Given the description of an element on the screen output the (x, y) to click on. 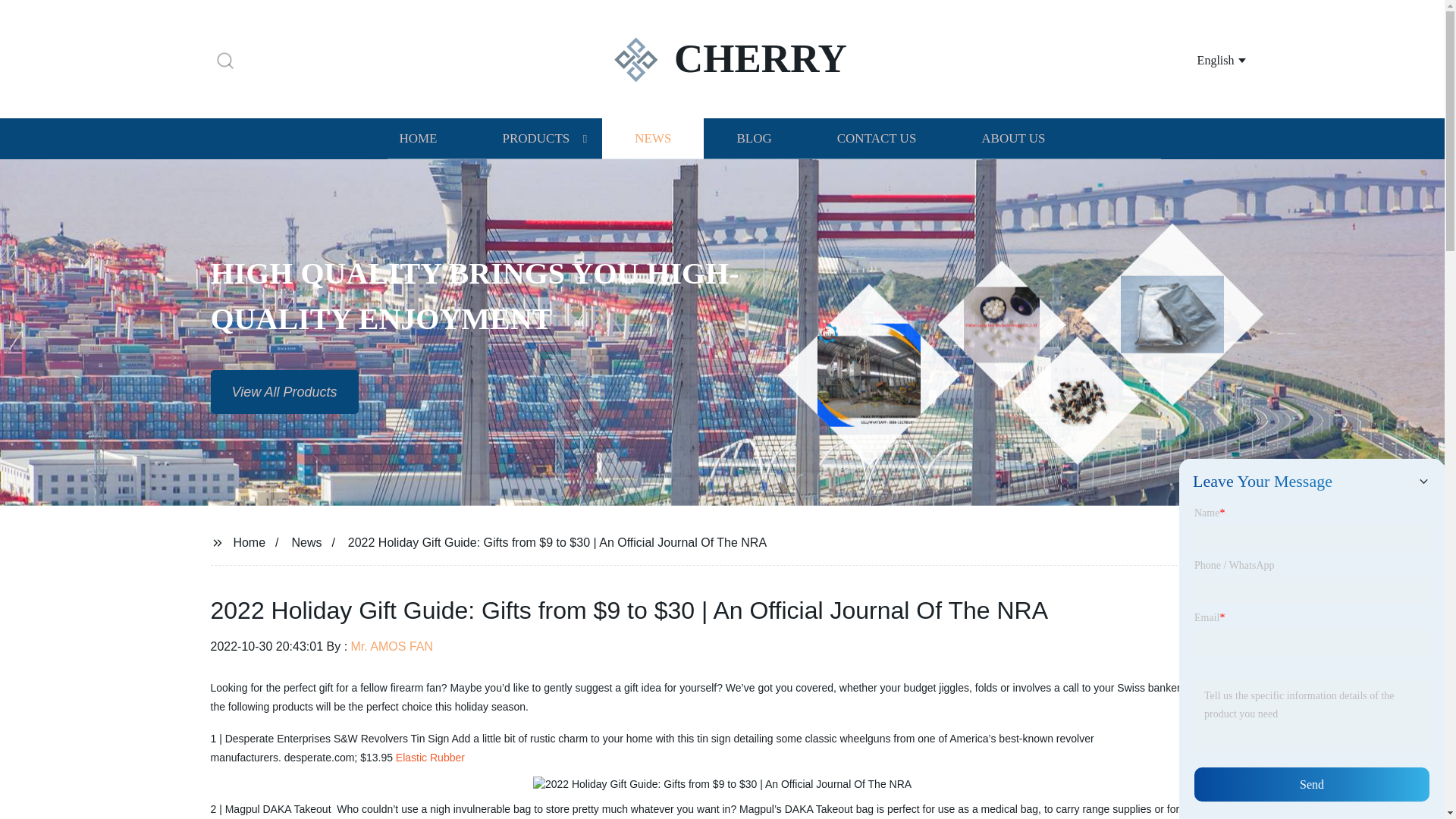
Home (248, 541)
Top (1404, 779)
NEWS (652, 137)
ABOUT US (1013, 137)
PRODUCTS (535, 137)
BLOG (753, 137)
Elastic Rubber (430, 757)
HOME (417, 137)
English (1203, 59)
CONTACT US (877, 137)
English (1203, 59)
News (306, 541)
